Given the description of an element on the screen output the (x, y) to click on. 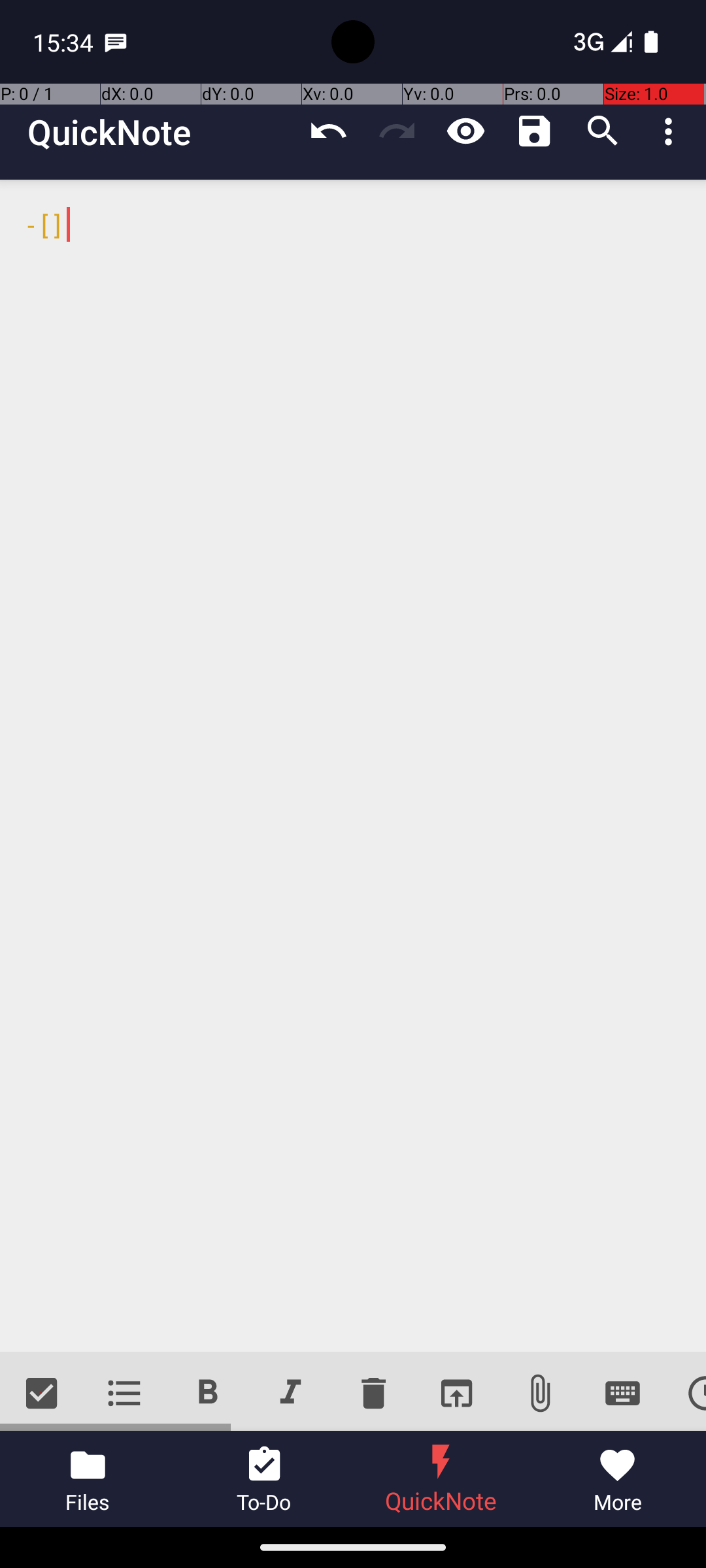
- [ ]  Element type: android.widget.EditText (353, 765)
